Given the description of an element on the screen output the (x, y) to click on. 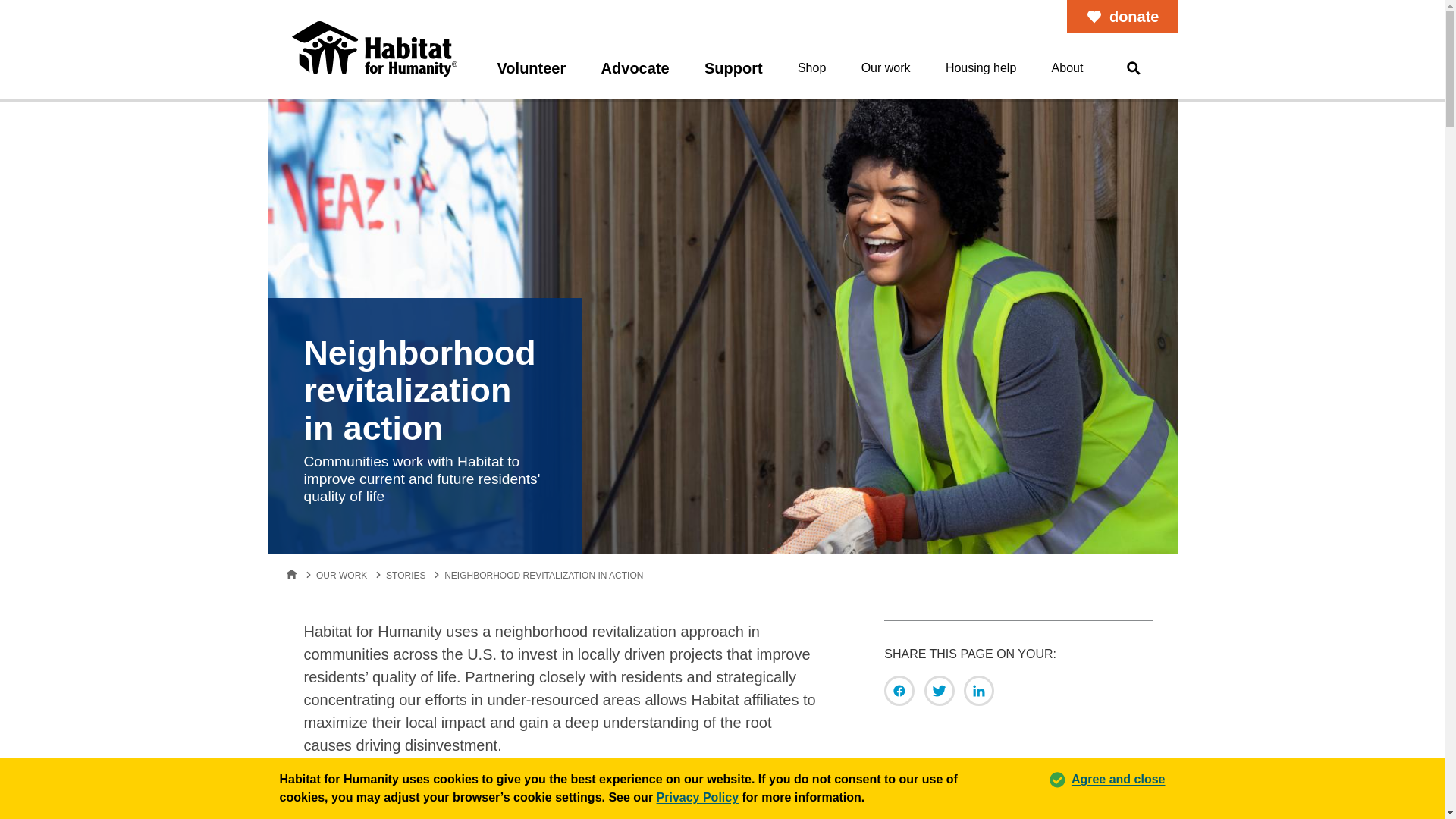
LinkedIn (978, 690)
Advocate (635, 62)
Volunteer (531, 62)
Facebook (898, 690)
Twitter (939, 690)
